Given the description of an element on the screen output the (x, y) to click on. 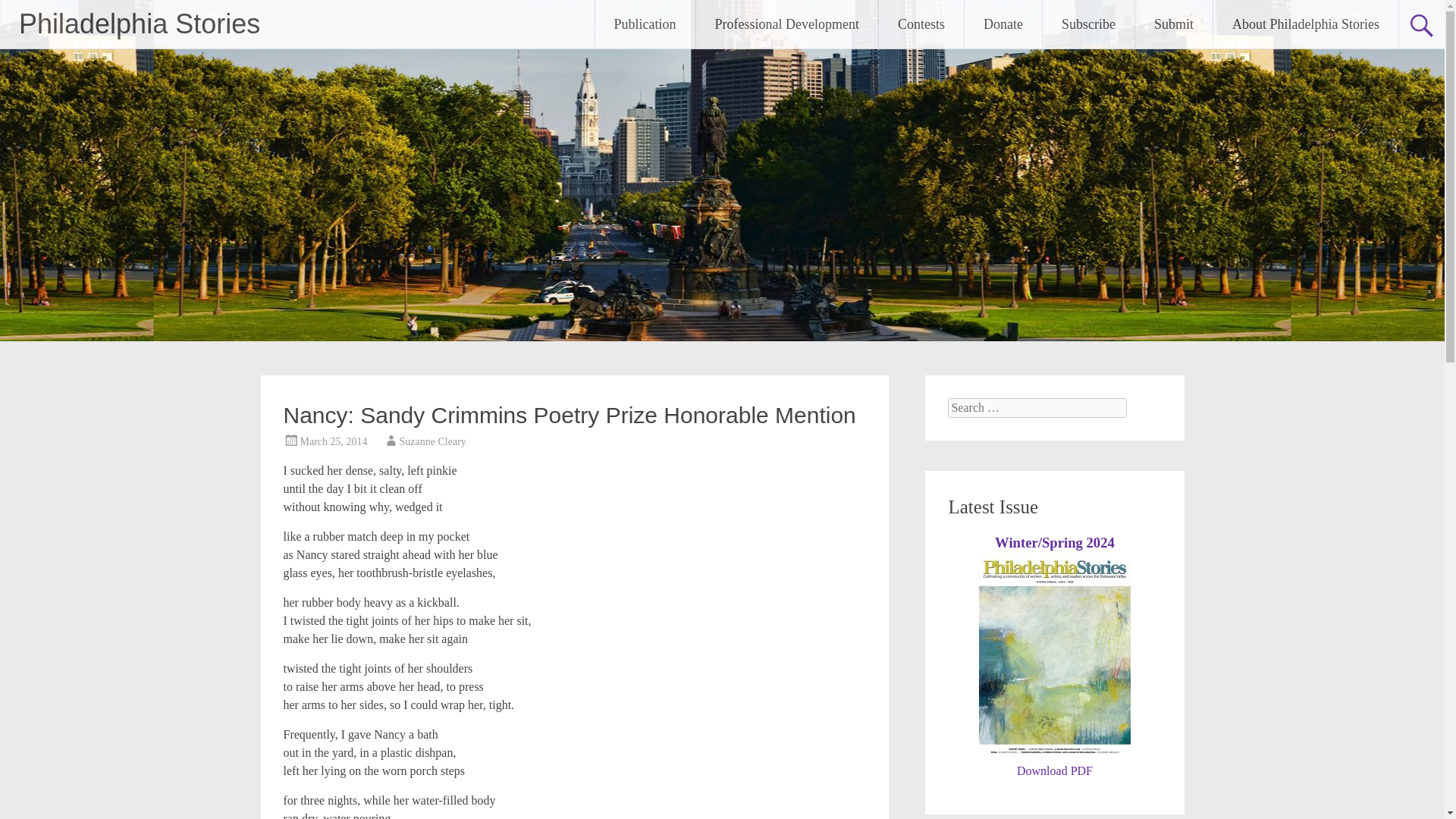
Philadelphia Stories (139, 23)
Suzanne Cleary (431, 441)
About Philadelphia Stories (1304, 24)
Subscribe (1088, 24)
March 25, 2014 (333, 441)
Submit (1173, 24)
Donate (1002, 24)
Contests (921, 24)
Search (26, 12)
Philadelphia Stories (139, 23)
